Given the description of an element on the screen output the (x, y) to click on. 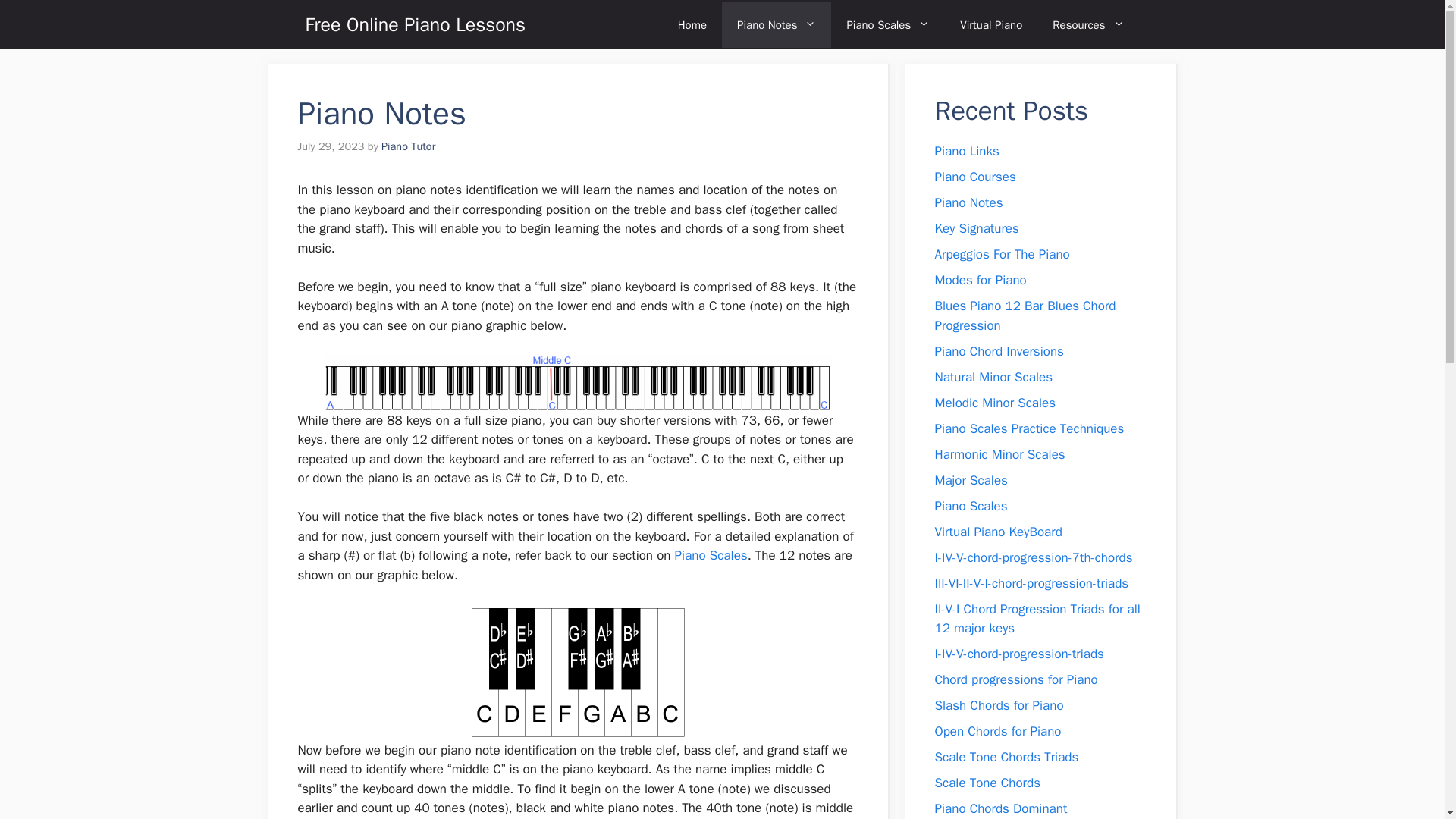
Modes for Piano (980, 279)
Natural Minor Scales (992, 376)
Piano Scales Practice Techniques (1029, 427)
Key Signatures (975, 228)
Piano Courses (974, 176)
Blues Piano 12 Bar Blues Chord Progression (1024, 315)
Melodic Minor Scales (994, 401)
Piano Scales (887, 23)
Harmonic Minor Scales (999, 453)
Piano Scales (711, 555)
View all posts by Piano Tutor (408, 146)
Piano Tutor (408, 146)
Piano Chord Inversions (998, 350)
Piano Notes (776, 23)
Virtual Piano (990, 23)
